Given the description of an element on the screen output the (x, y) to click on. 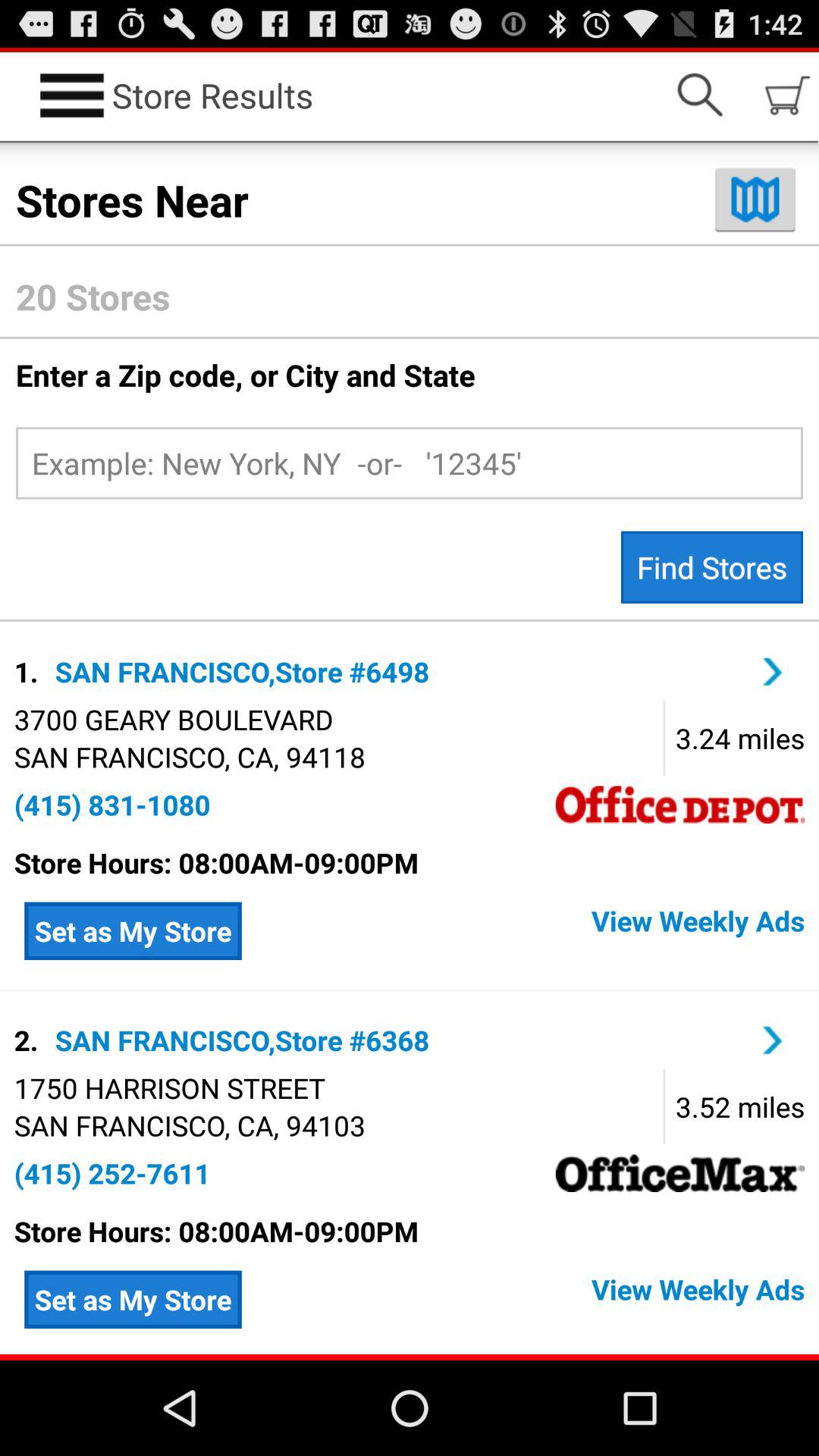
click item above the store hours 08 app (112, 804)
